Given the description of an element on the screen output the (x, y) to click on. 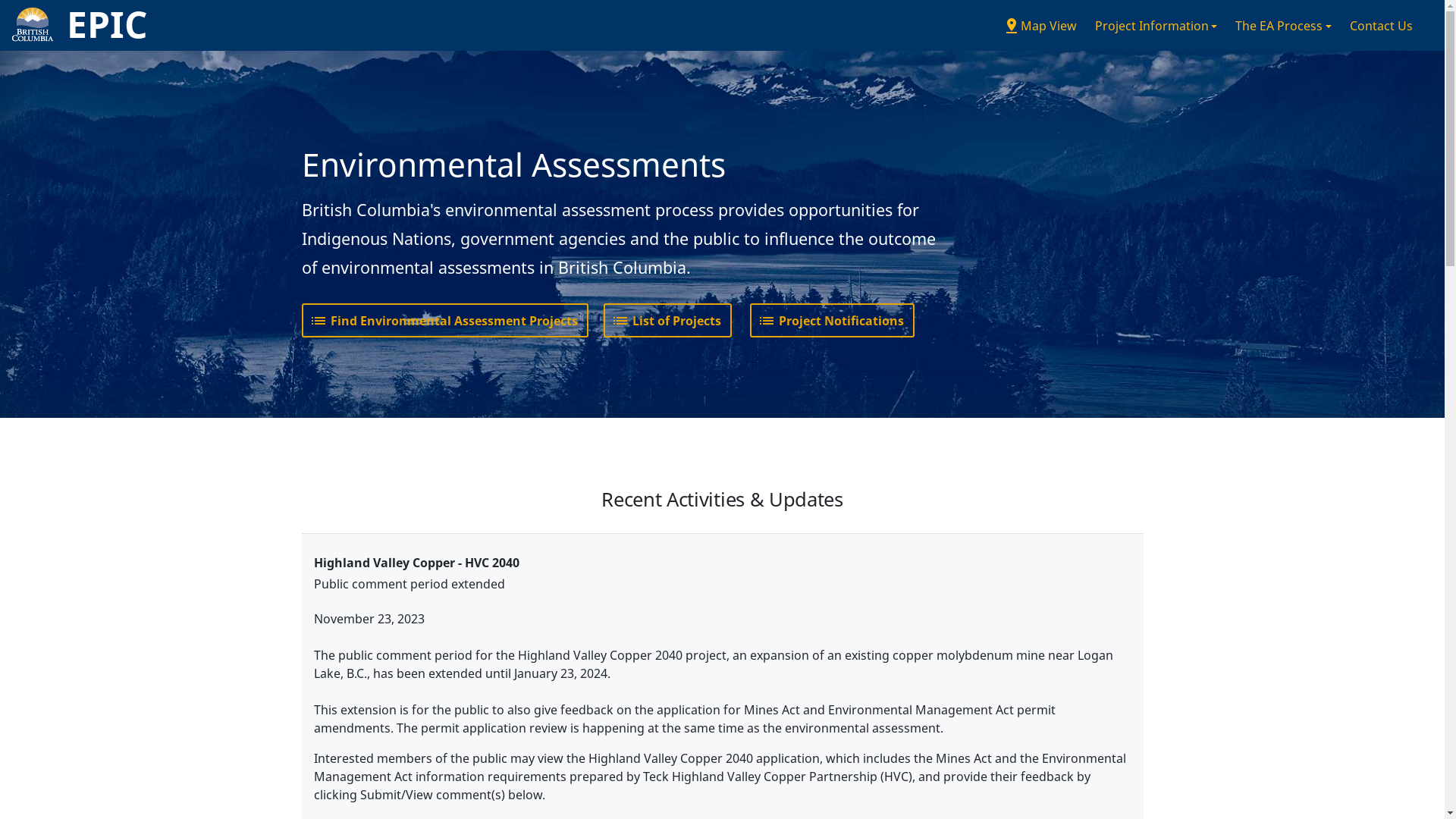
The EA Process Element type: text (1283, 25)
Contact Us Element type: text (1380, 25)
pin_dropMap View Element type: text (1039, 25)
Project Information Element type: text (1155, 25)
EPIC Element type: text (73, 25)
listFind Environmental Assessment Projects Element type: text (444, 320)
listList of Projects Element type: text (667, 320)
listProject Notifications Element type: text (831, 320)
